Given the description of an element on the screen output the (x, y) to click on. 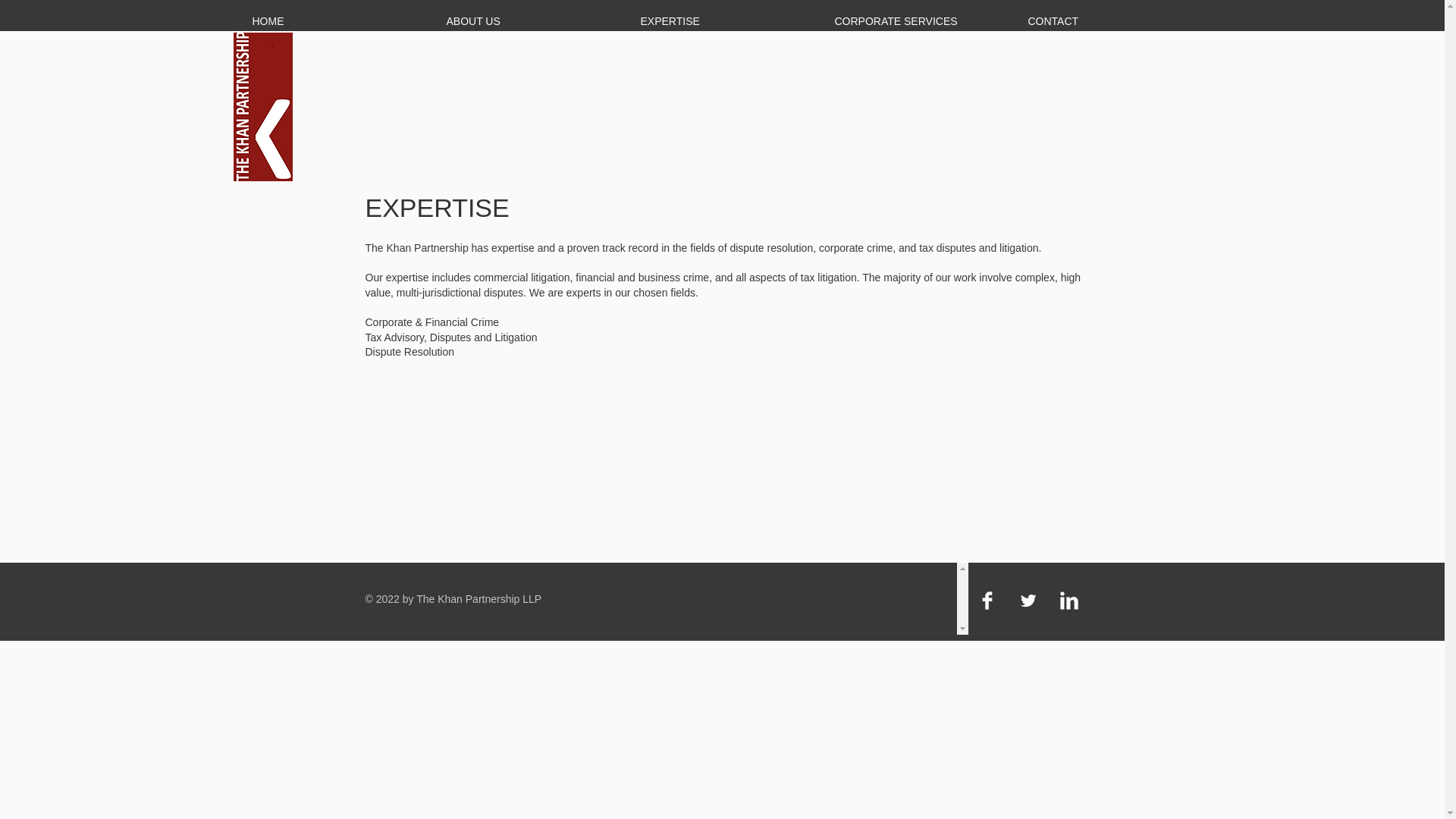
Embedded Content (906, 598)
EXPERTISE (718, 21)
HOME (330, 21)
ABOUT US (524, 21)
CONTACT (1105, 21)
CORPORATE SERVICES (912, 21)
